Given the description of an element on the screen output the (x, y) to click on. 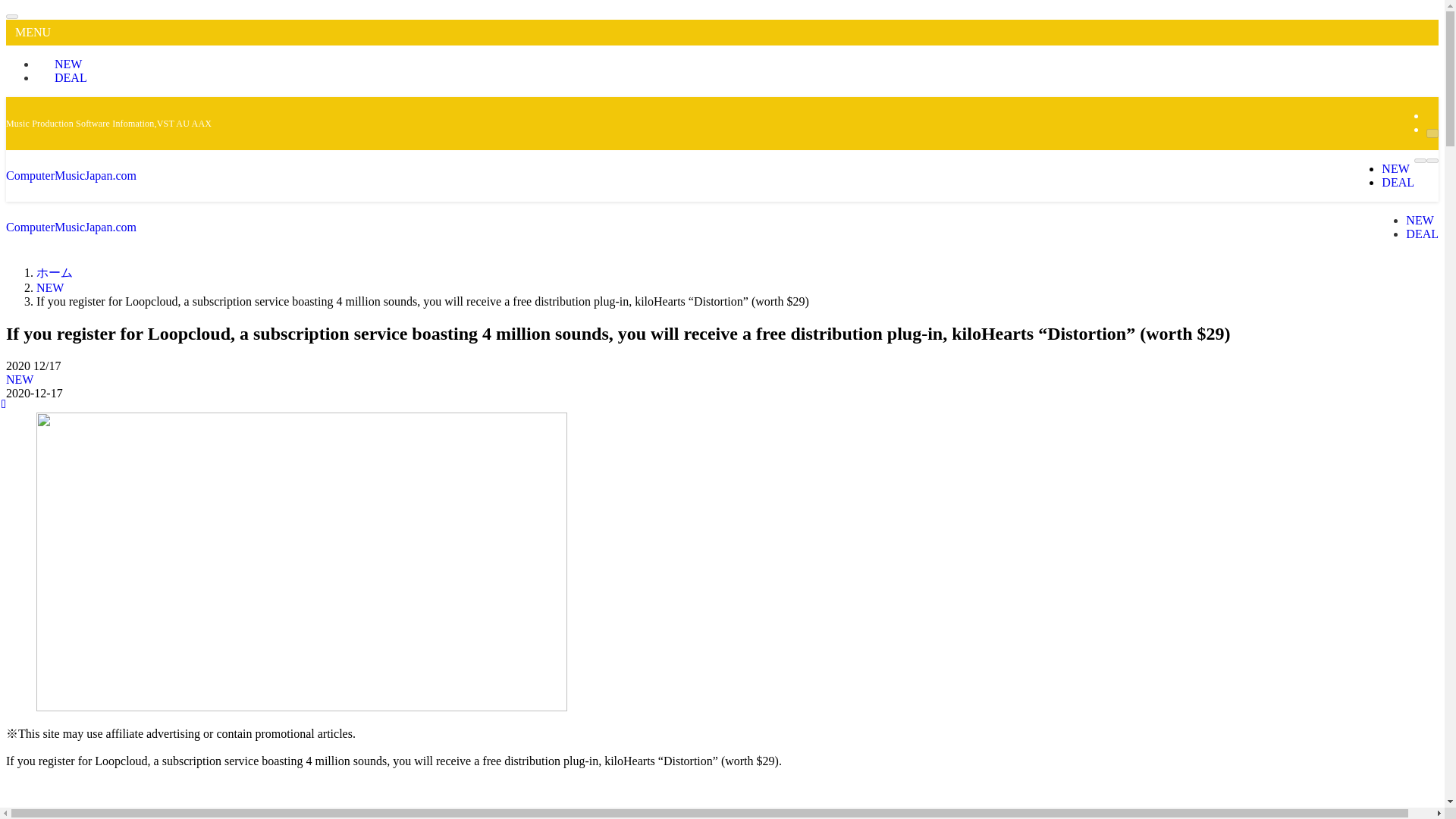
ComputerMusicJapan.com (70, 226)
NEW (50, 287)
NEW (1395, 168)
NEW (1419, 219)
ComputerMusicJapan.com (70, 226)
DEAL (1397, 182)
NEW (65, 63)
ComputerMusicJapan.com (70, 174)
ComputerMusicJapan.com (70, 174)
NEW (19, 379)
